Given the description of an element on the screen output the (x, y) to click on. 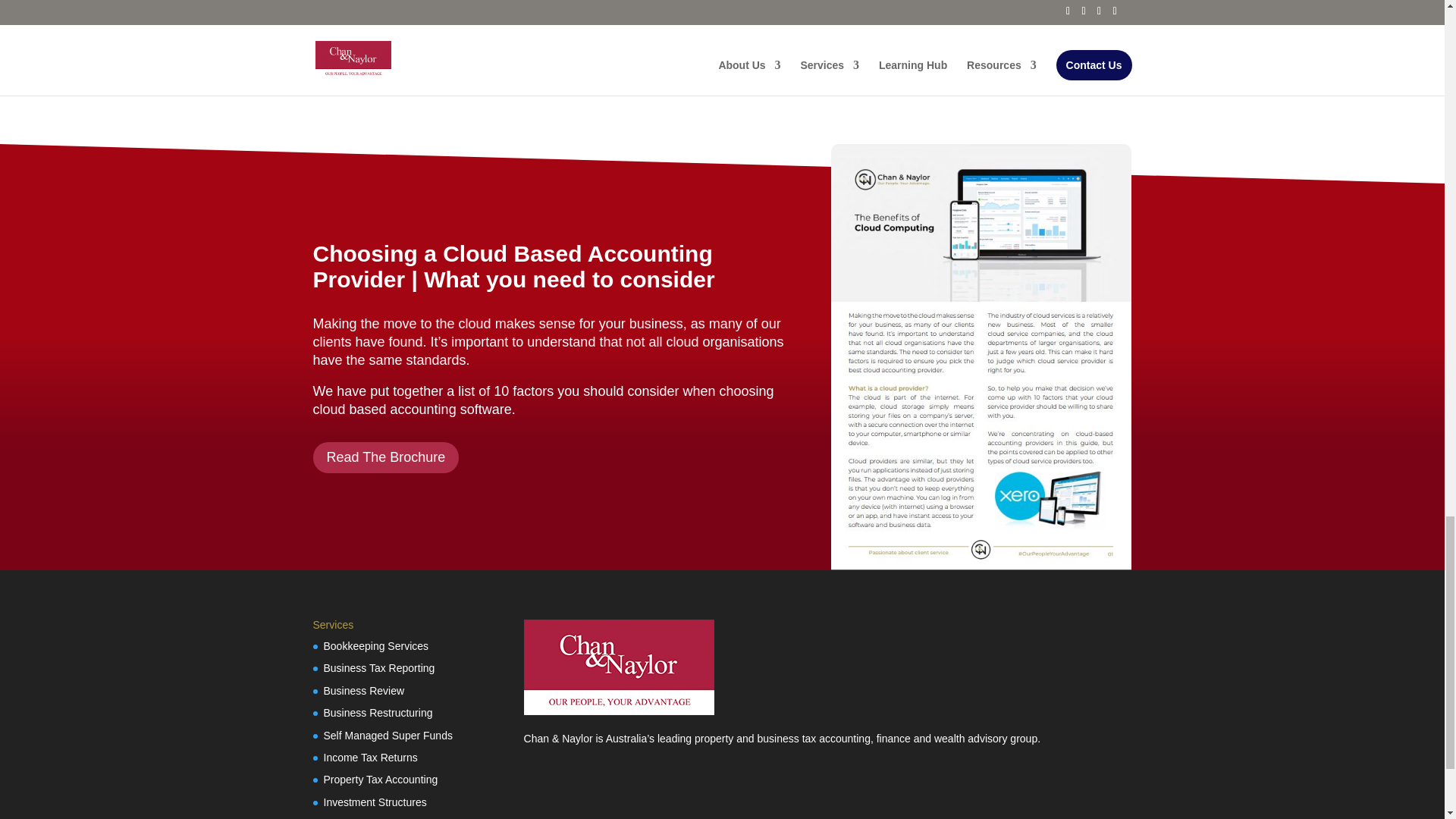
20 Reasons Why You Don't Make Enough Money In Your Business (511, 19)
